Given the description of an element on the screen output the (x, y) to click on. 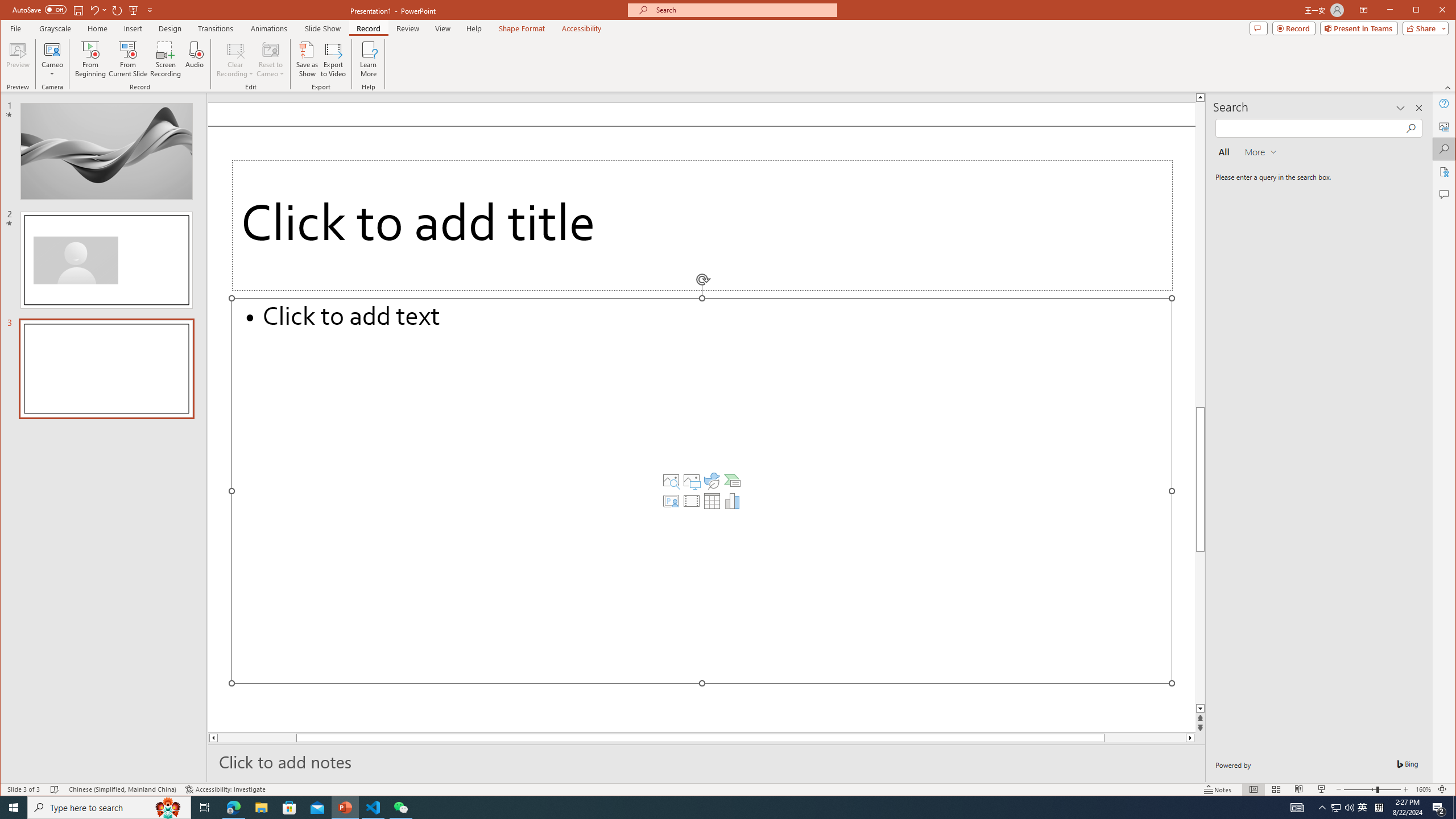
PowerPoint - 1 running window (345, 807)
Cameo (52, 48)
Accessibility (1444, 171)
Notes  (1217, 789)
From Beginning (133, 9)
Share (1422, 27)
From Current Slide... (127, 59)
Clear Recording (234, 59)
Accessibility Checker Accessibility: Investigate (225, 789)
Slide Notes (706, 761)
Audio (194, 59)
